Given the description of an element on the screen output the (x, y) to click on. 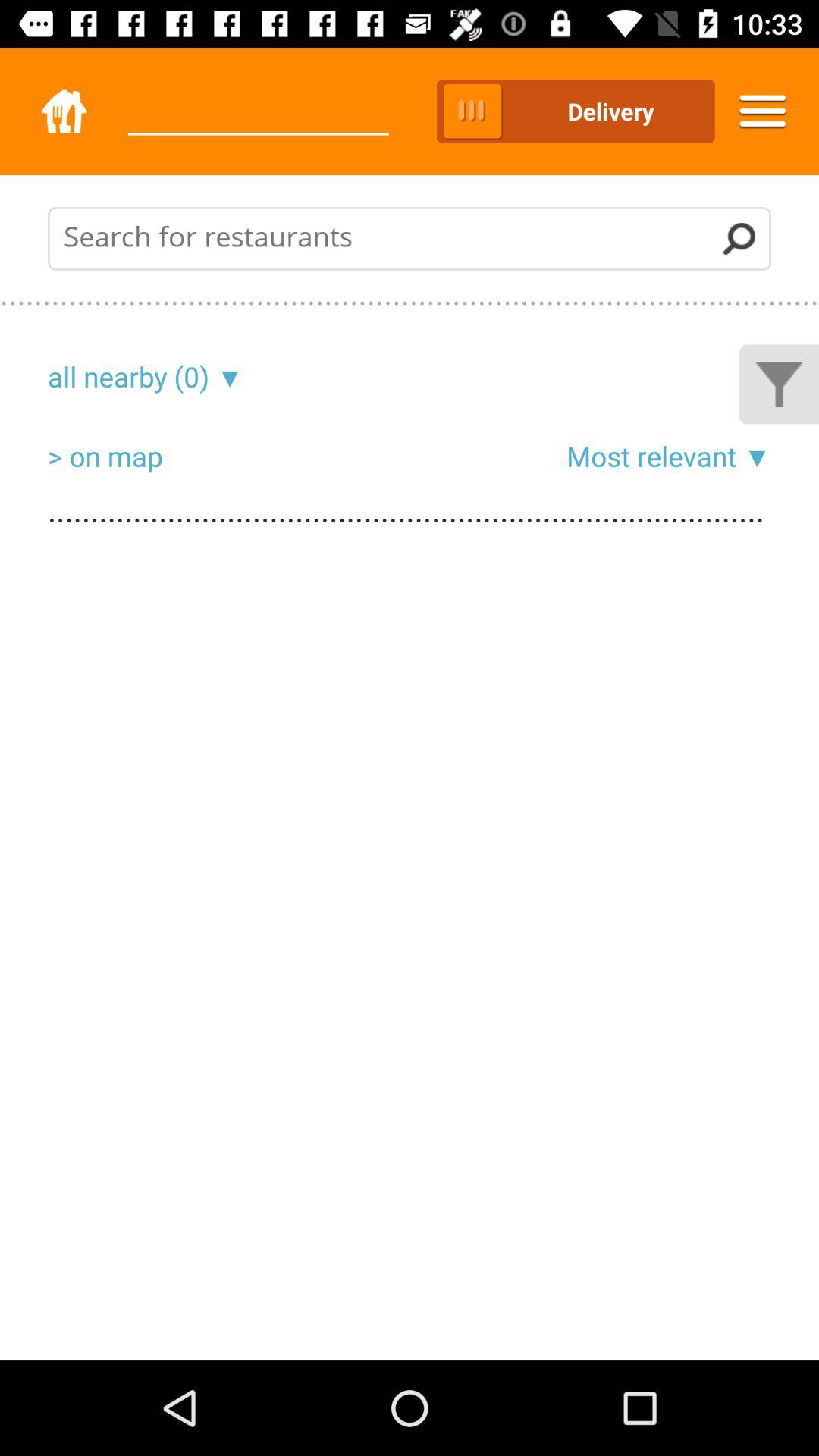
launch the icon to the right of the delivery (762, 111)
